Given the description of an element on the screen output the (x, y) to click on. 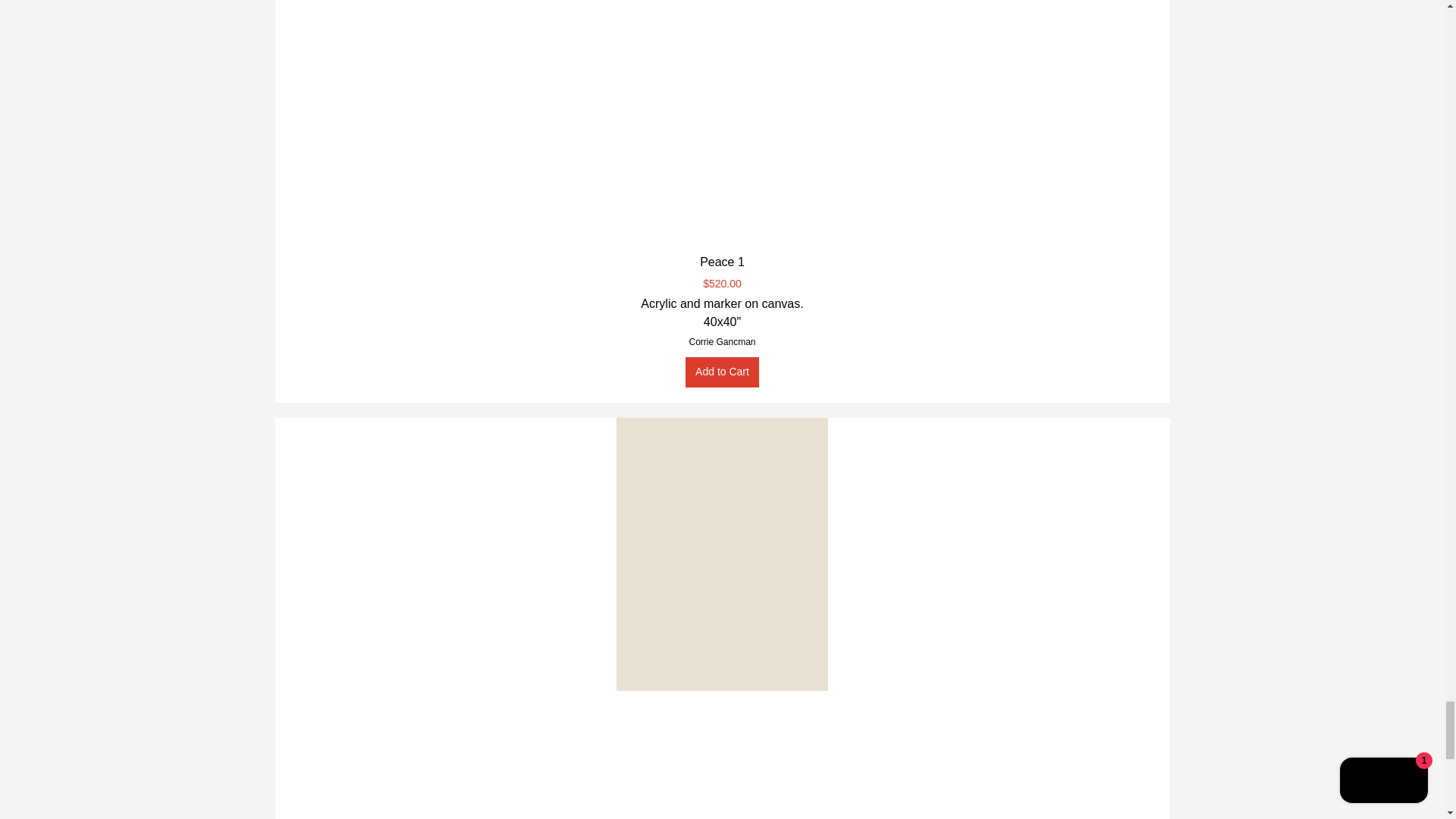
Add to Cart (721, 371)
